Given the description of an element on the screen output the (x, y) to click on. 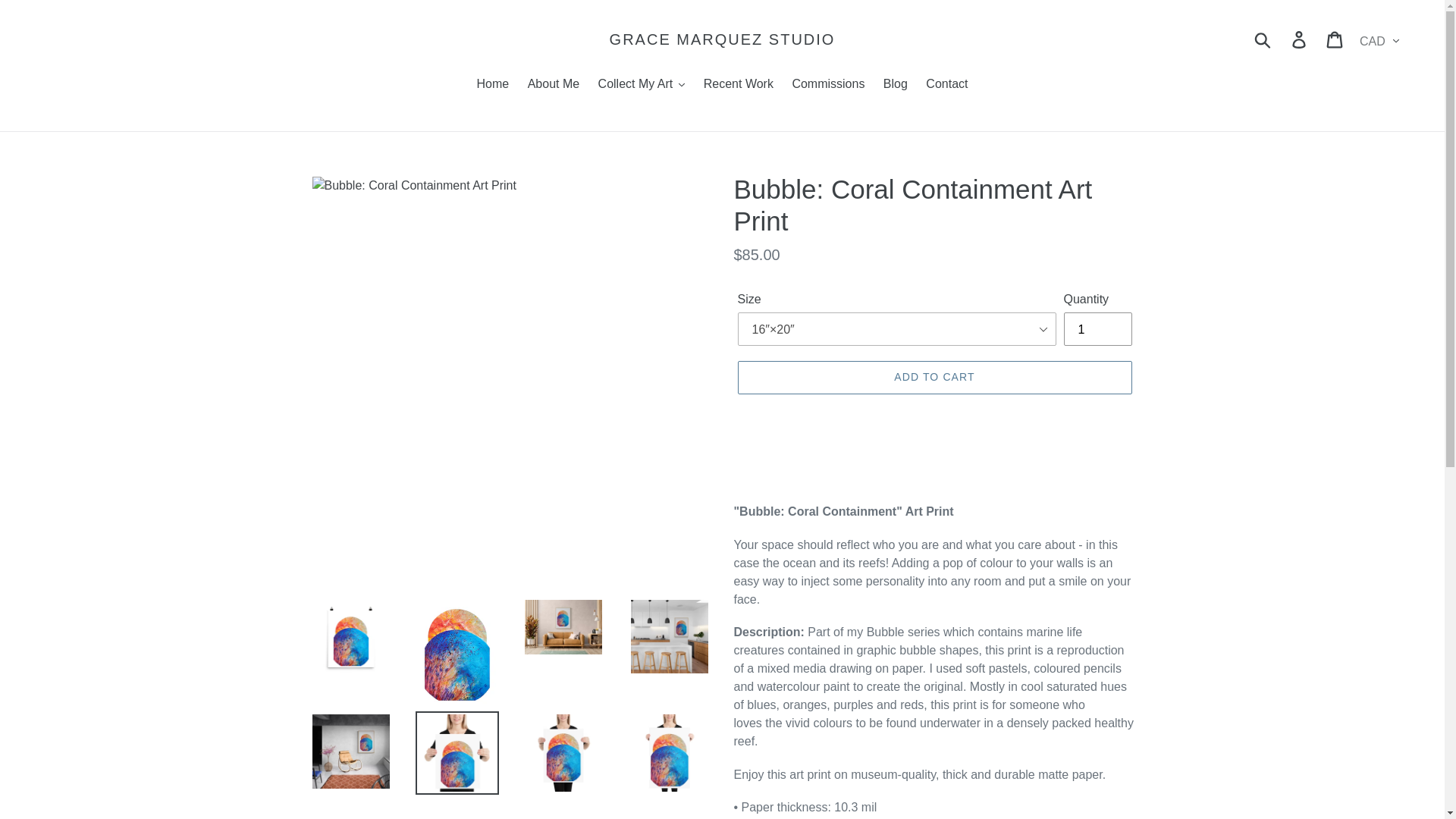
1 (1096, 328)
Cart (1335, 39)
About Me (552, 85)
Commissions (828, 85)
Log in (1299, 39)
ADD TO CART (933, 377)
GRACE MARQUEZ STUDIO (722, 39)
Blog (895, 85)
Recent Work (737, 85)
Submit (1263, 39)
Home (492, 85)
Contact (946, 85)
